Given the description of an element on the screen output the (x, y) to click on. 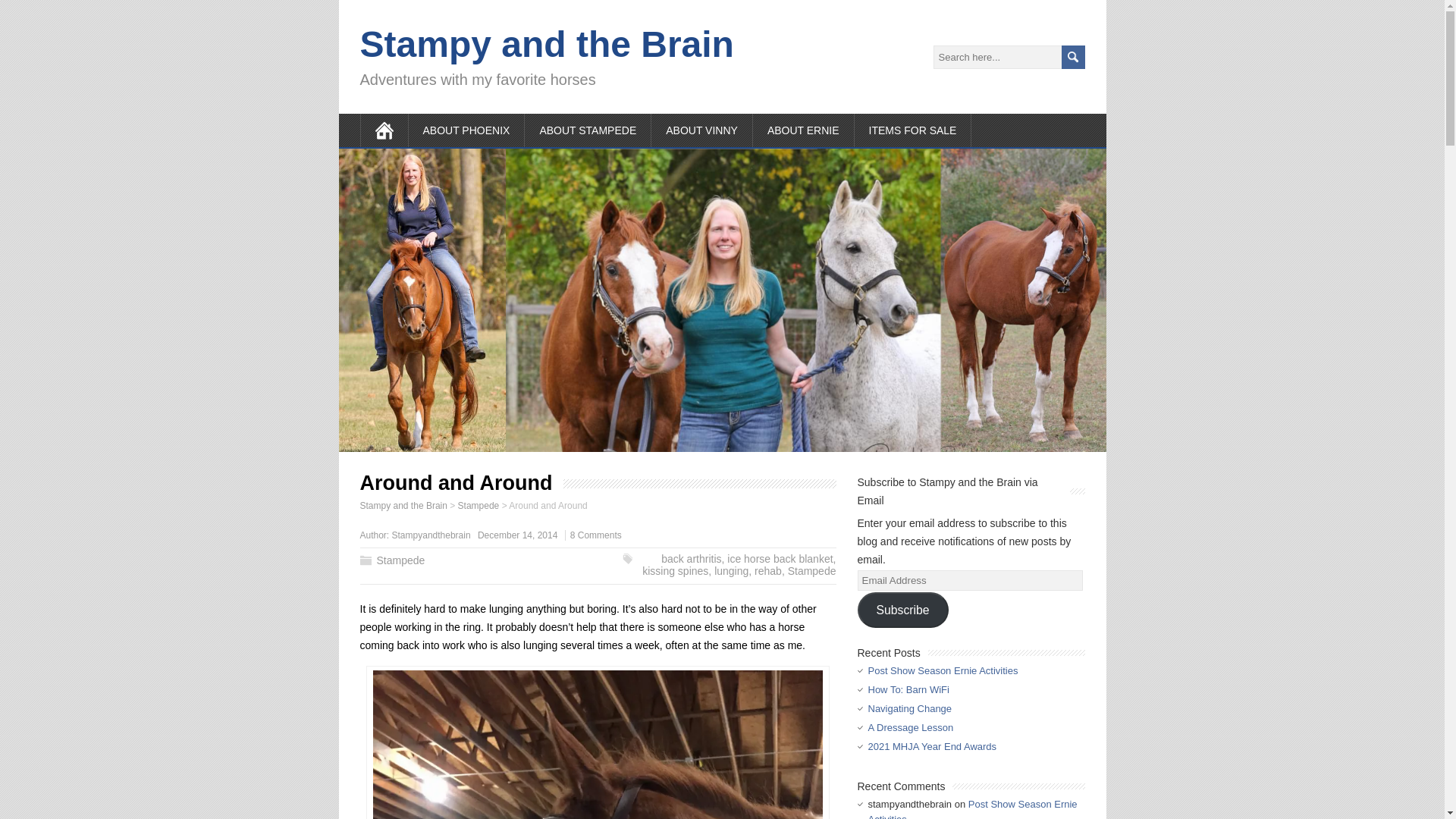
Go to Stampy and the Brain. (402, 505)
lunging (731, 571)
ABOUT VINNY (701, 130)
rehab (767, 571)
ABOUT PHOENIX (465, 130)
ITEMS FOR SALE (913, 130)
ice horse back blanket (779, 558)
ABOUT STAMPEDE (587, 130)
kissing spines (674, 571)
Stampede (400, 560)
ABOUT ERNIE (803, 130)
back arthritis (690, 558)
Stampy and the Brain (546, 44)
Stampy and the Brain (402, 505)
Stampede (478, 505)
